Given the description of an element on the screen output the (x, y) to click on. 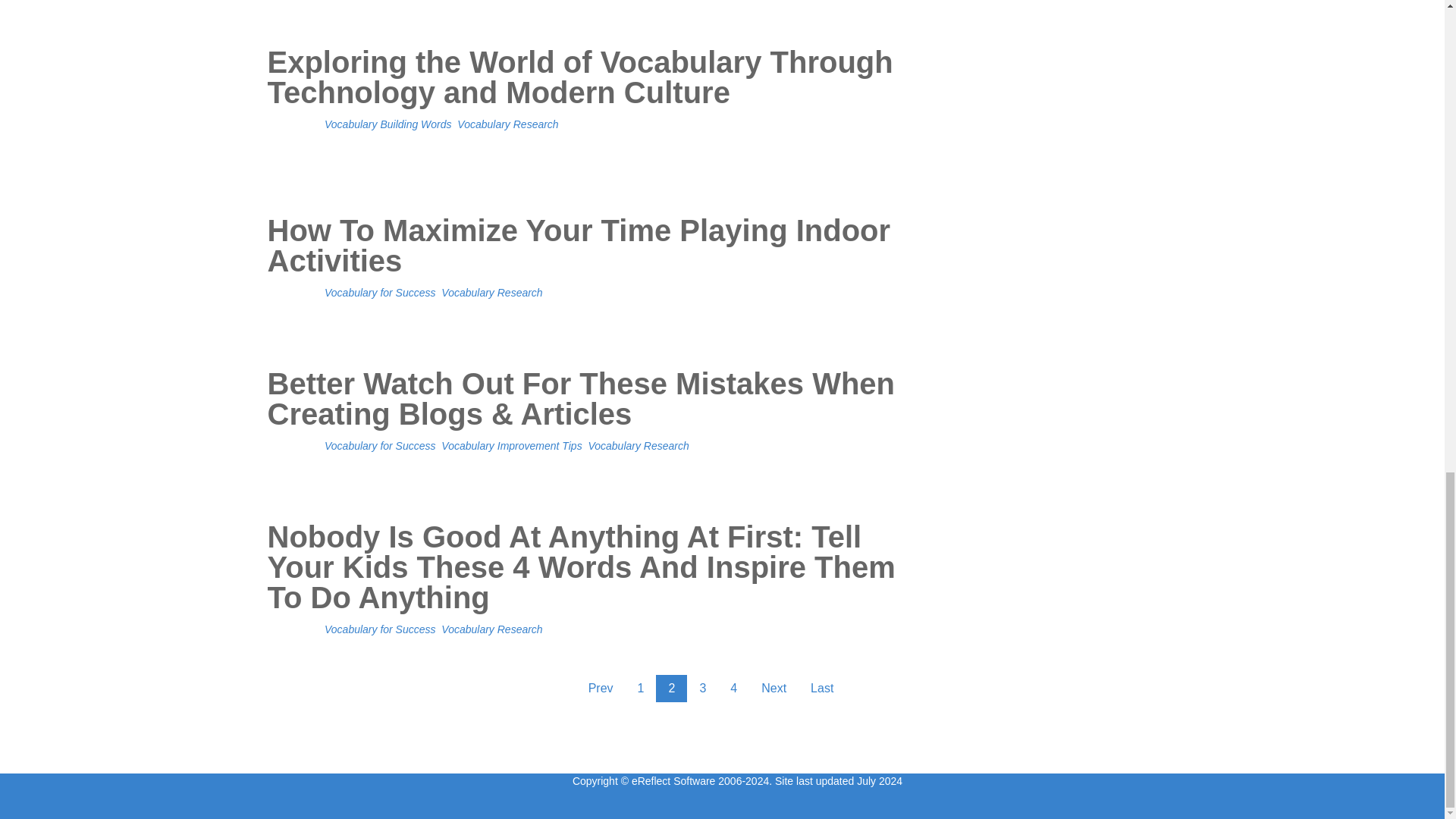
How To Maximize Your Time Playing Indoor Activities (593, 265)
Vocabulary Research (507, 123)
Vocabulary for Success (379, 292)
How To Maximize Your Time Playing Indoor Activities (593, 265)
Vocabulary Research (491, 292)
Vocabulary Improvement Tips (510, 445)
Vocabulary Building Words (387, 123)
Vocabulary for Success (379, 445)
